Given the description of an element on the screen output the (x, y) to click on. 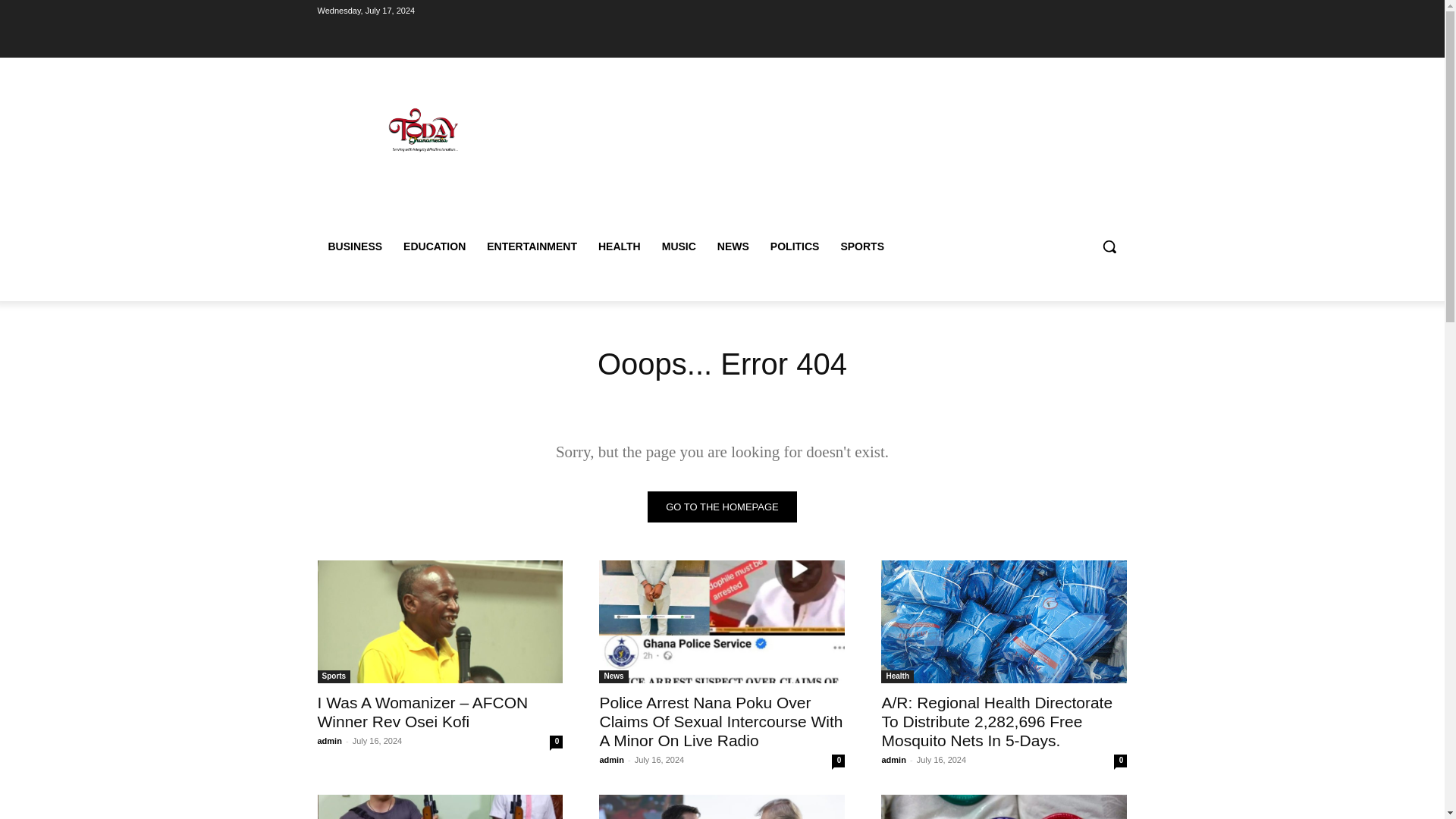
admin (892, 759)
GO TO THE HOMEPAGE (721, 506)
SPORTS (862, 246)
BUSINESS (355, 246)
POLITICS (794, 246)
EDUCATION (434, 246)
0 (837, 760)
NEWS (733, 246)
